Given the description of an element on the screen output the (x, y) to click on. 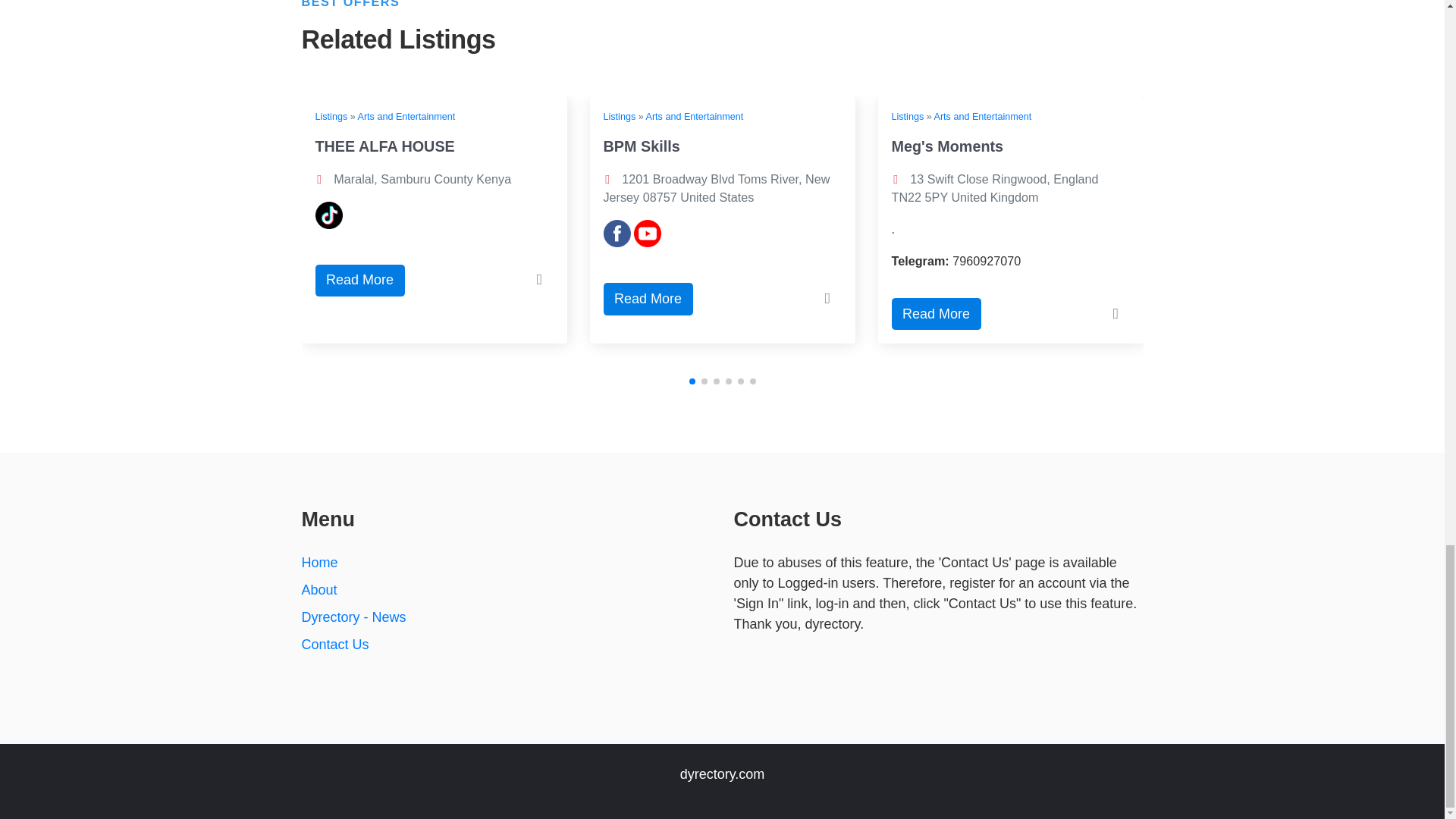
Arts and Entertainment (406, 116)
Listings (331, 116)
THEE ALFA HOUSE (384, 146)
Arts and Entertainment (695, 116)
Listings (620, 116)
BPM Skills (641, 146)
Read More (359, 280)
